Given the description of an element on the screen output the (x, y) to click on. 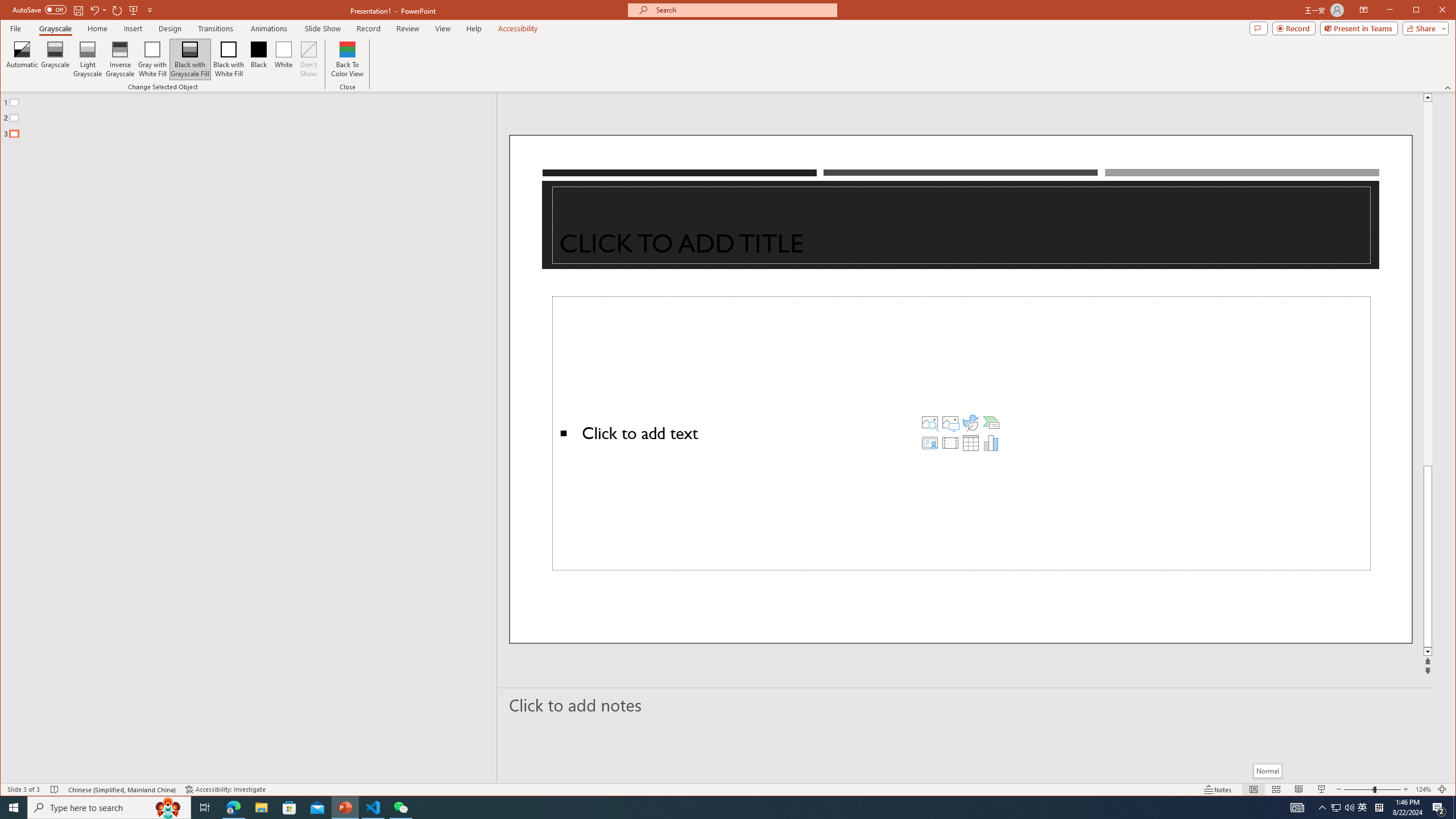
Outline (252, 115)
Zoom 124% (1422, 789)
Grayscale (55, 28)
WeChat - 1 running window (400, 807)
Grayscale (55, 59)
Insert Table (970, 443)
Running applications (707, 807)
